Given the description of an element on the screen output the (x, y) to click on. 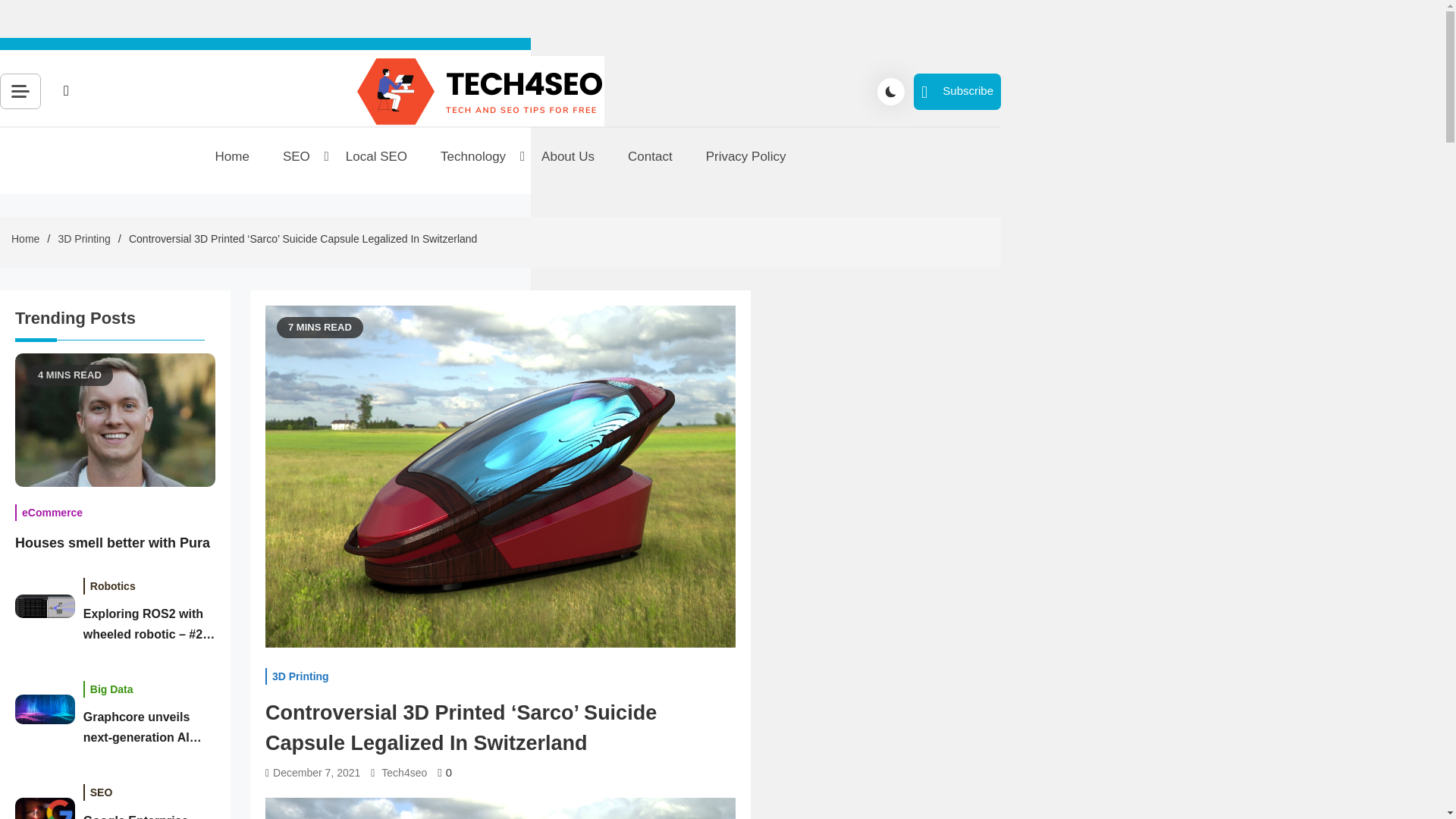
Tech4Seo (416, 146)
Houses smell better with Pura (114, 419)
Search (236, 125)
Home (232, 156)
Technology (473, 156)
SEO (297, 156)
Local SEO (376, 156)
site mode button (890, 90)
